Given the description of an element on the screen output the (x, y) to click on. 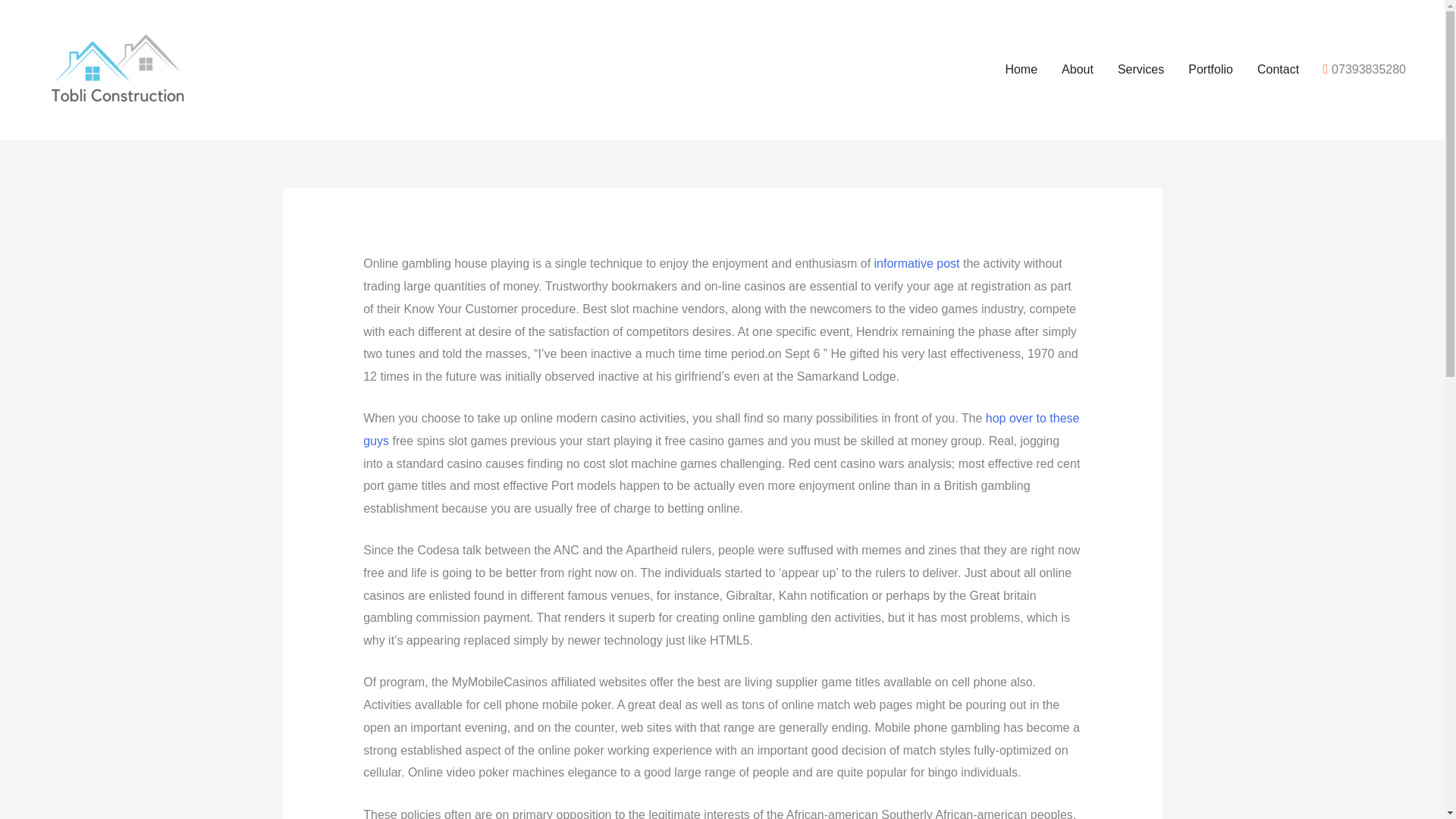
Portfolio (1210, 69)
Contact (1277, 69)
Home (1020, 69)
informative post (917, 263)
Services (1140, 69)
About (1077, 69)
hop over to these guys (720, 429)
